Given the description of an element on the screen output the (x, y) to click on. 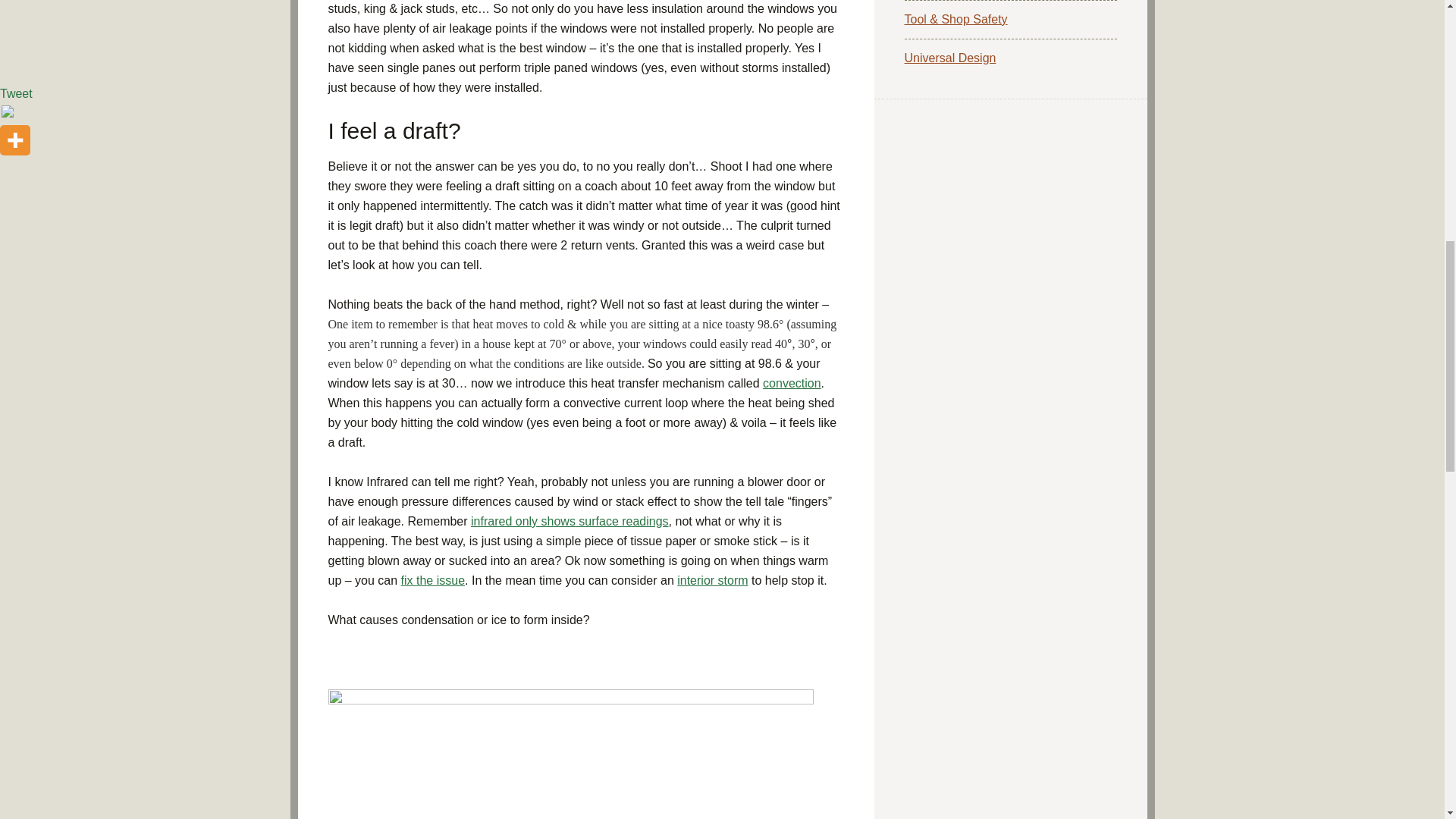
convection (791, 382)
fix the issue (432, 580)
interior storm (712, 580)
infrared only shows surface readings (569, 521)
Convection (791, 382)
